Given the description of an element on the screen output the (x, y) to click on. 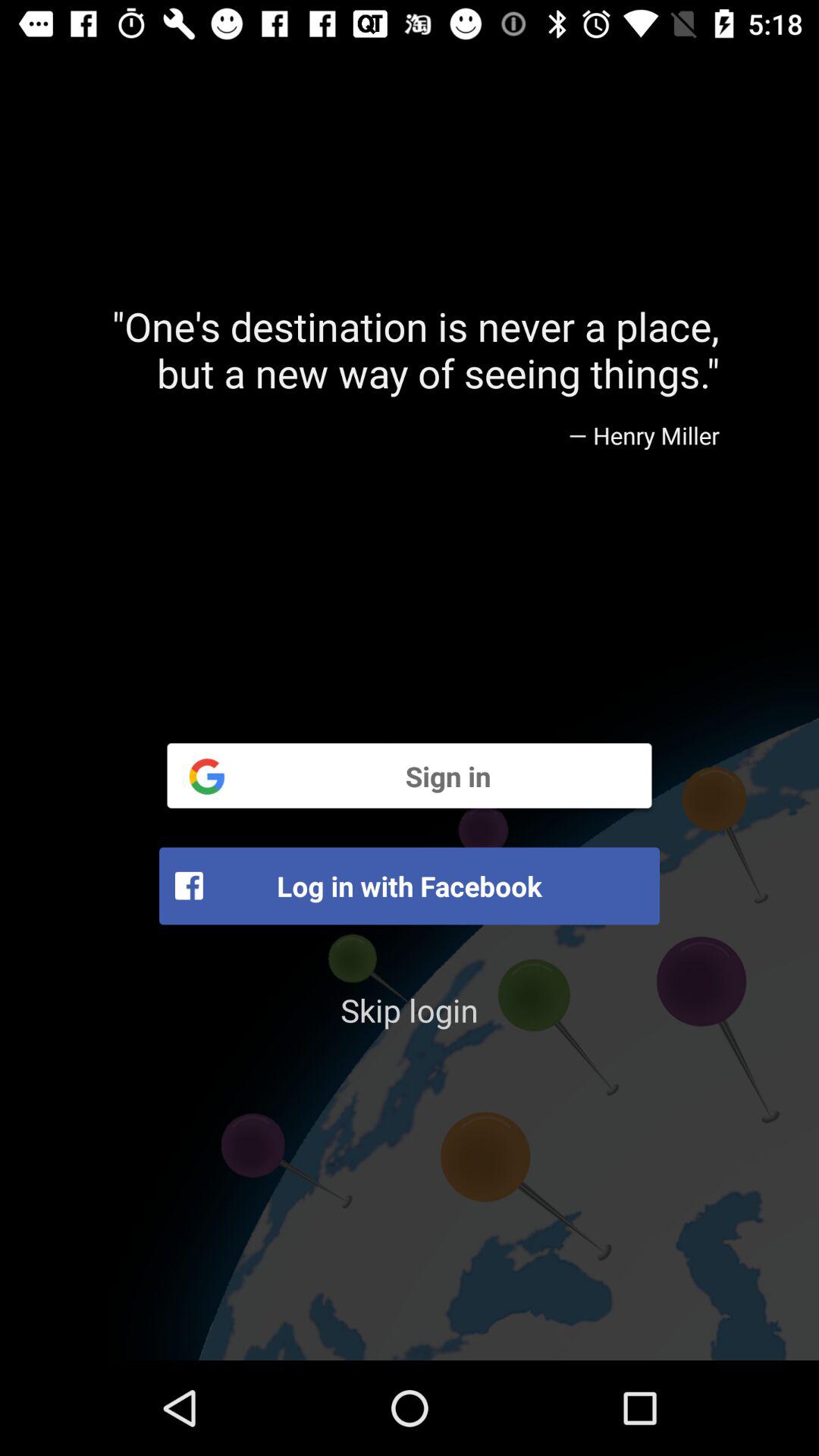
turn off the skip login (409, 1009)
